Given the description of an element on the screen output the (x, y) to click on. 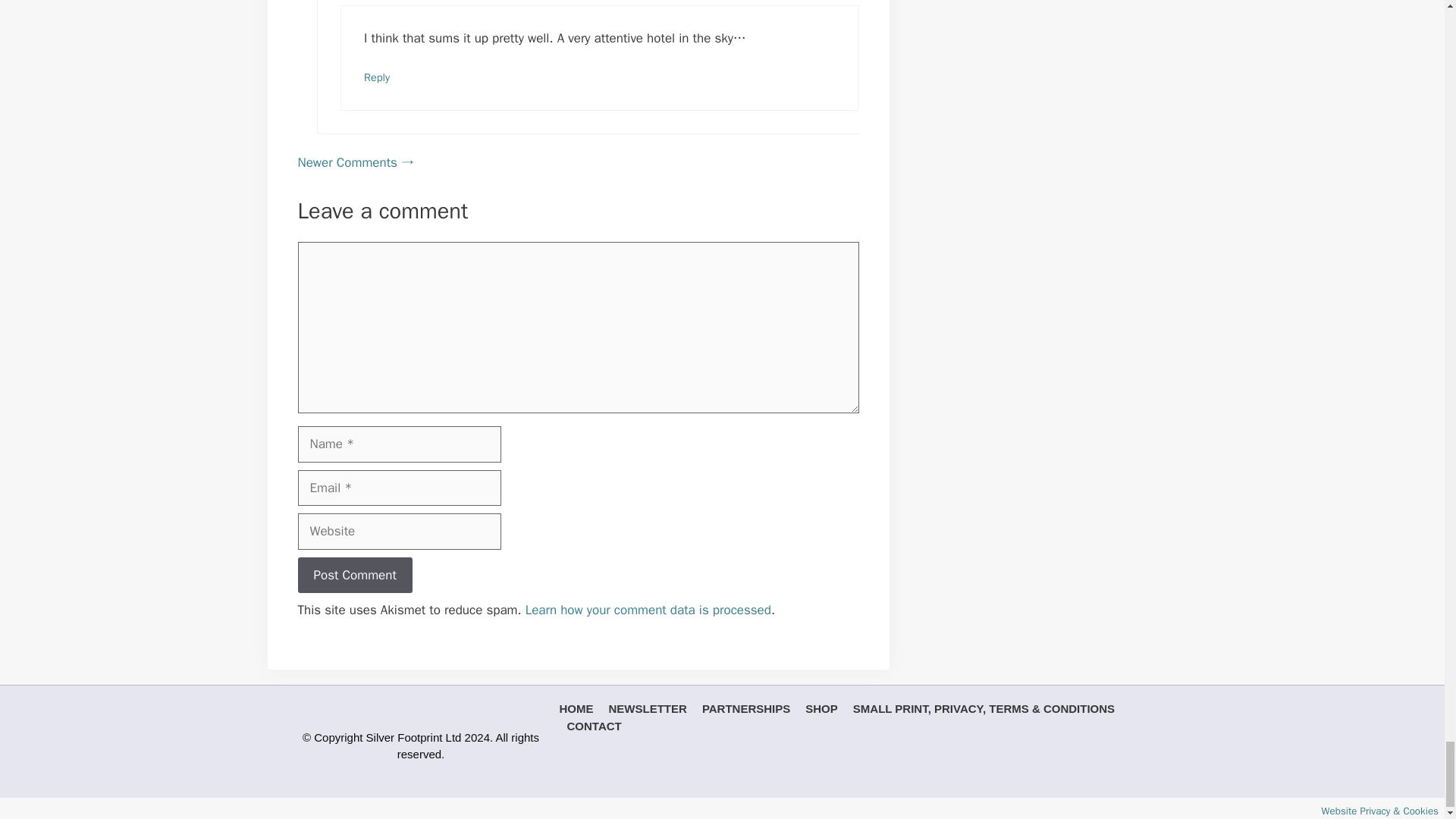
Post Comment (354, 575)
Shop (821, 707)
